Given the description of an element on the screen output the (x, y) to click on. 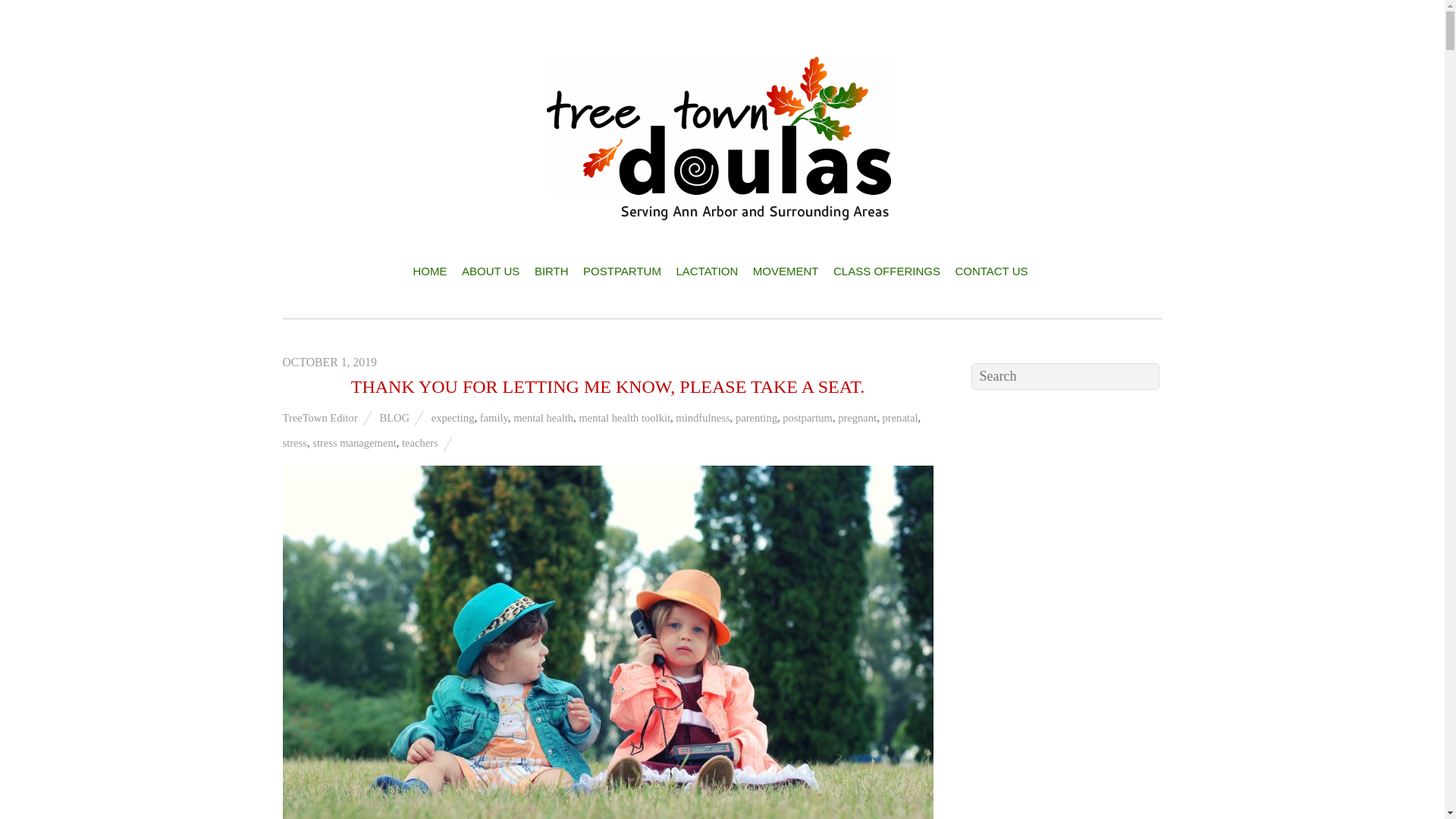
ABOUT US (490, 270)
CONTACT US (990, 270)
CLASS OFFERINGS (886, 270)
mental health toolkit (623, 417)
expecting (452, 417)
THANK YOU FOR LETTING ME KNOW, PLEASE TAKE A SEAT. (607, 385)
POSTPARTUM (622, 270)
Tree Town Doulas (722, 207)
BIRTH (551, 270)
BLOG (393, 417)
